Given the description of an element on the screen output the (x, y) to click on. 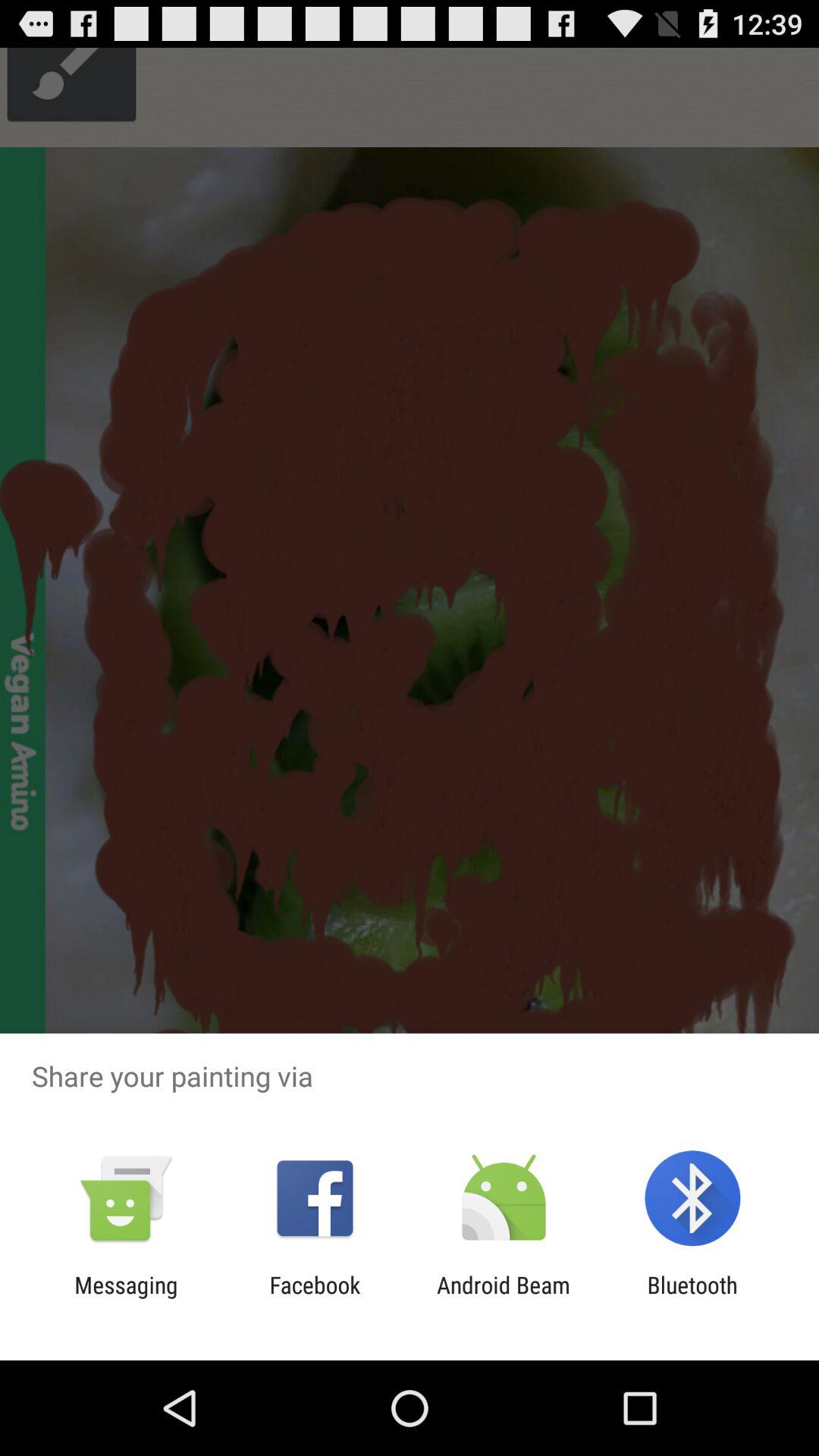
launch the app next to android beam app (692, 1298)
